Given the description of an element on the screen output the (x, y) to click on. 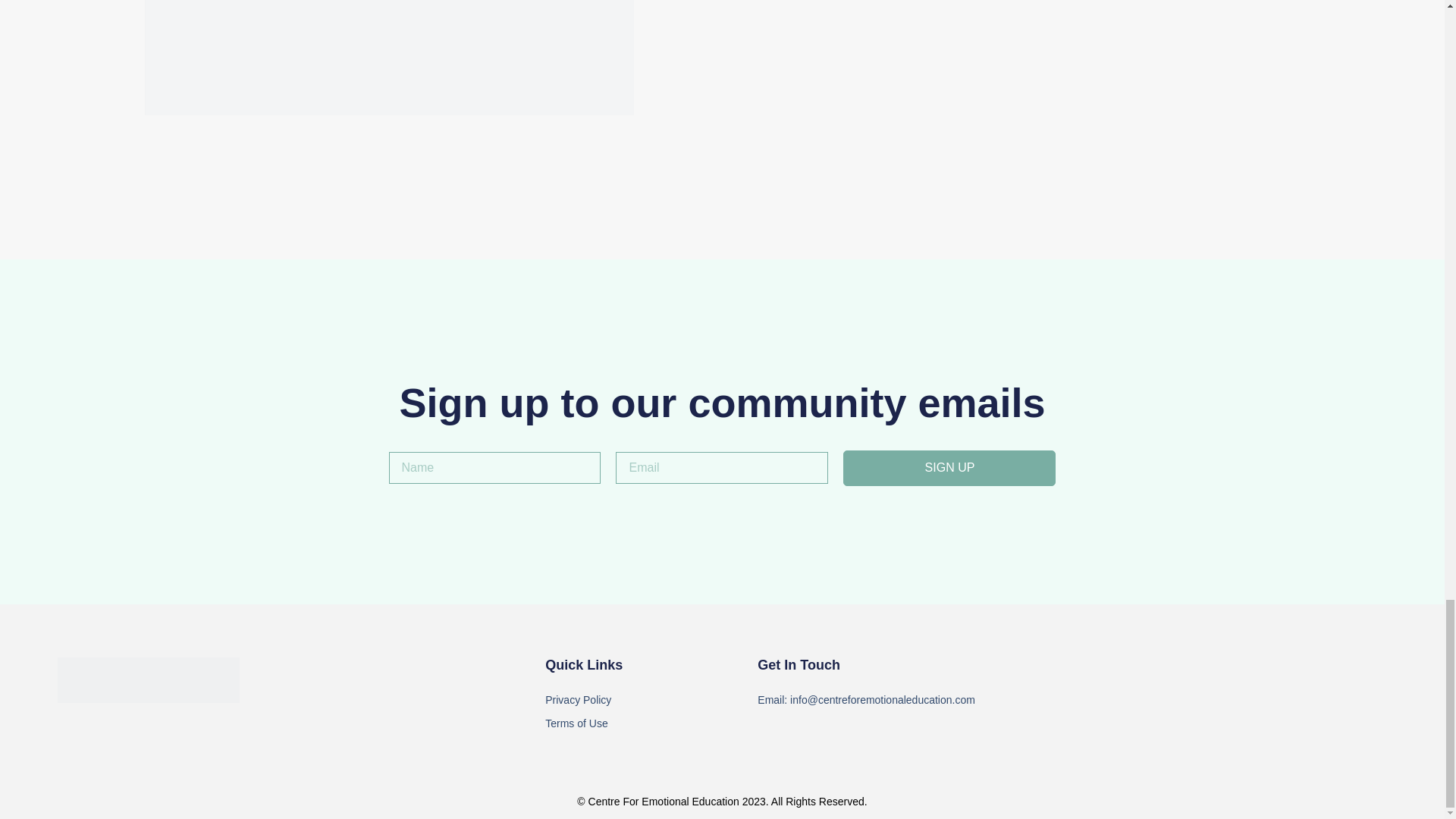
Privacy Policy (650, 700)
Terms of Use (650, 723)
SIGN UP (949, 468)
